Given the description of an element on the screen output the (x, y) to click on. 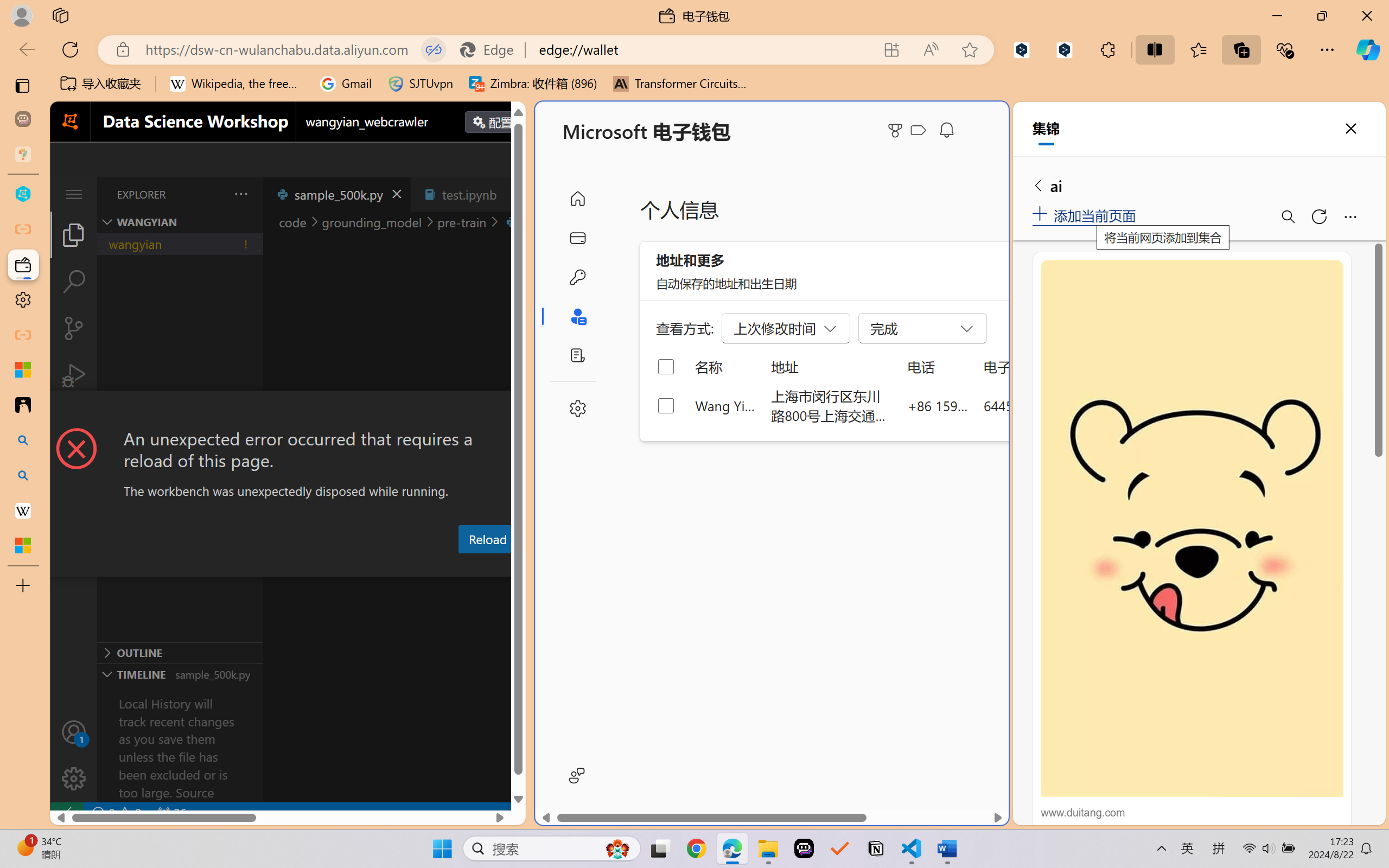
Close (Ctrl+F4) (512, 194)
sample_500k.py (336, 194)
Terminal (Ctrl+`) (553, 565)
remote (66, 812)
Wikipedia, the free encyclopedia (236, 83)
Accounts - Sign in requested (73, 732)
No Problems (115, 812)
wangyian_dsw - DSW (22, 194)
Outline Section (179, 652)
